Given the description of an element on the screen output the (x, y) to click on. 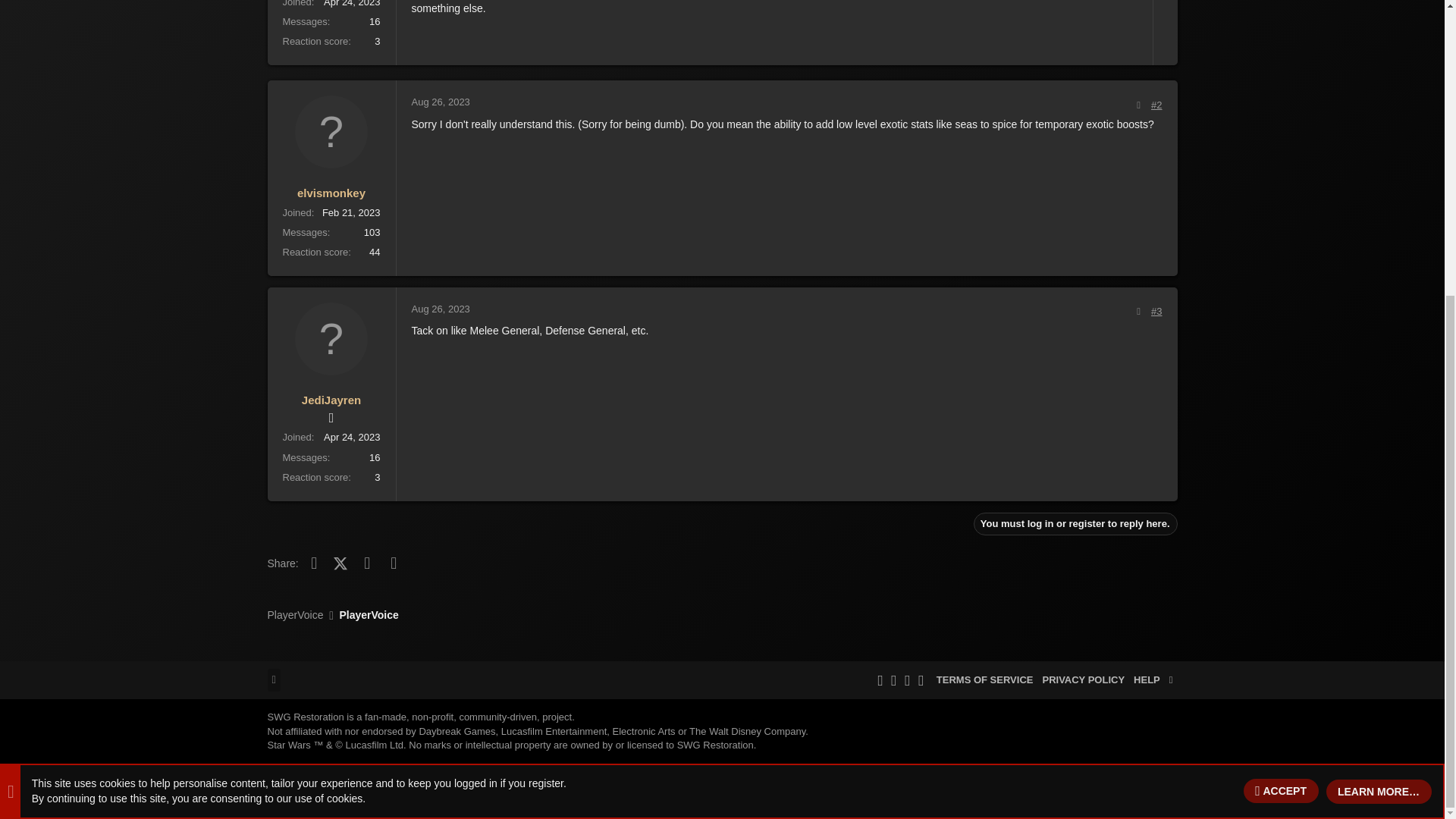
Aug 26, 2023 at 11:38 PM (439, 308)
Top (1170, 680)
Aug 26, 2023 at 11:37 PM (439, 101)
